Given the description of an element on the screen output the (x, y) to click on. 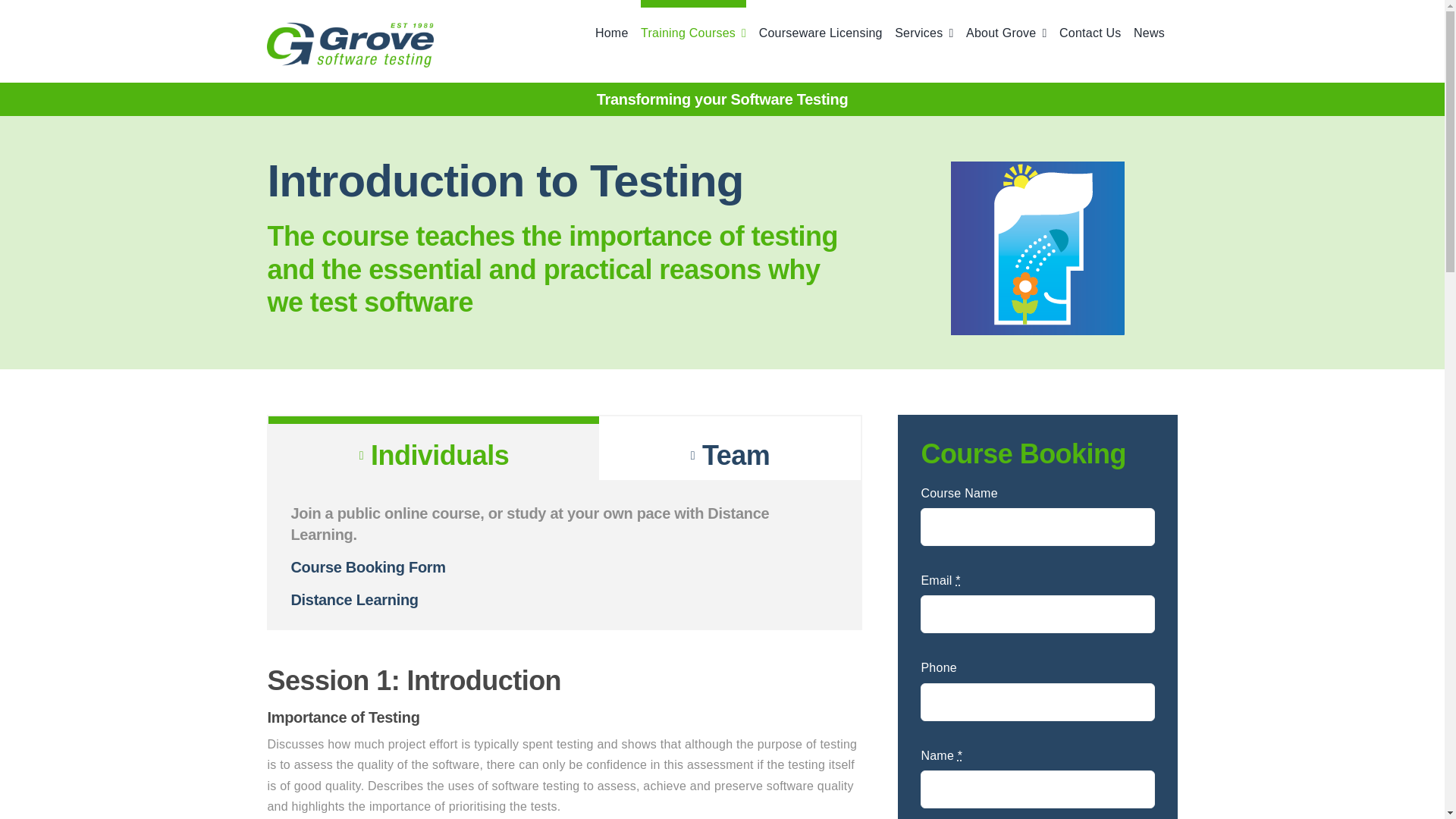
Introduction-to-Testing-icon (1037, 247)
About Grove (1006, 22)
Services (924, 22)
Courseware Licensing (820, 22)
Training Courses (692, 22)
Contact Us (1090, 22)
